Given the description of an element on the screen output the (x, y) to click on. 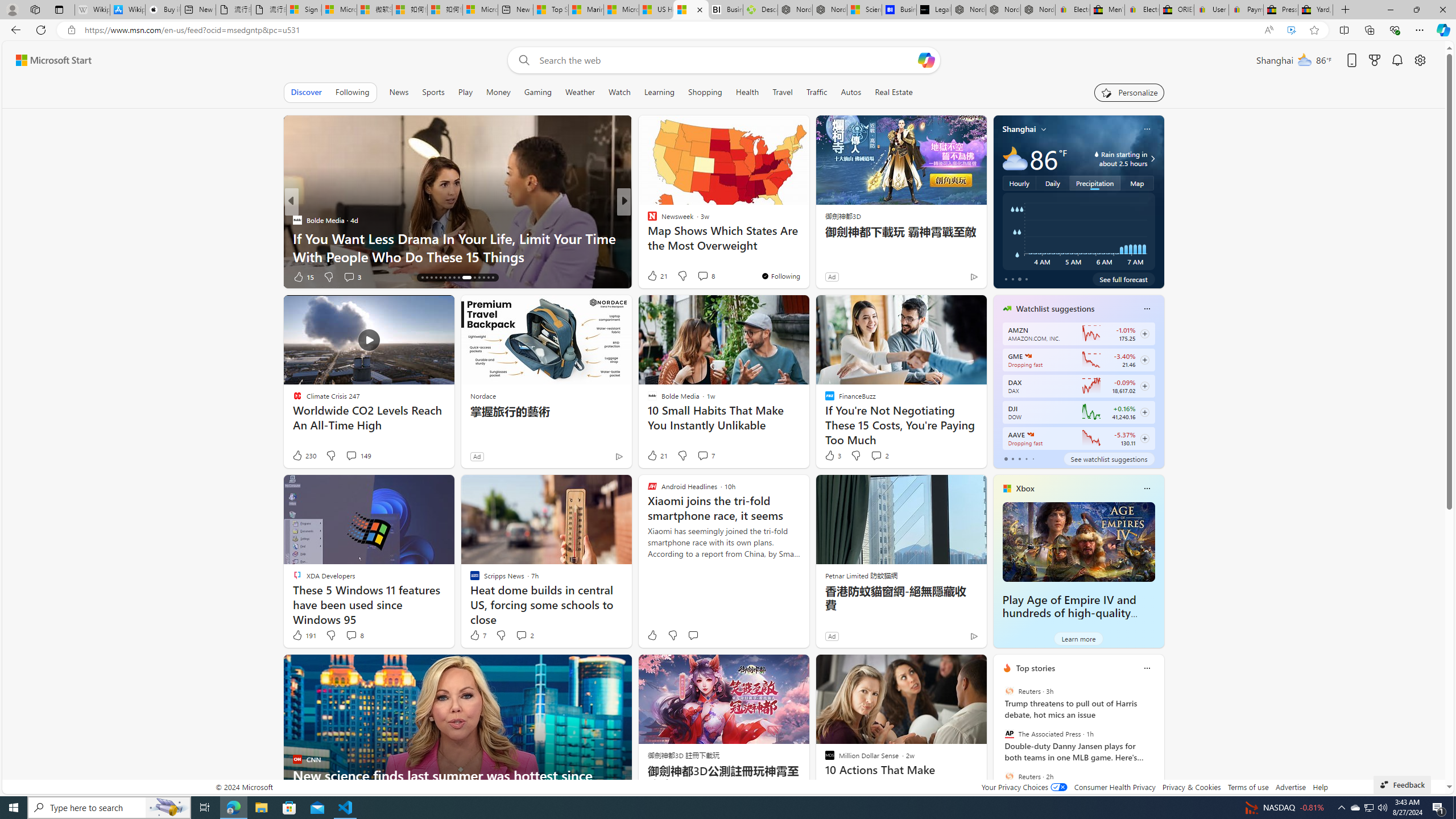
AutomationID: tab-21 (444, 277)
View comments 18 Comment (6, 276)
View comments 31 Comment (704, 276)
View comments 2 Comment (524, 634)
AutomationID: tab-23 (454, 277)
AutomationID: tab-18 (431, 277)
